Given the description of an element on the screen output the (x, y) to click on. 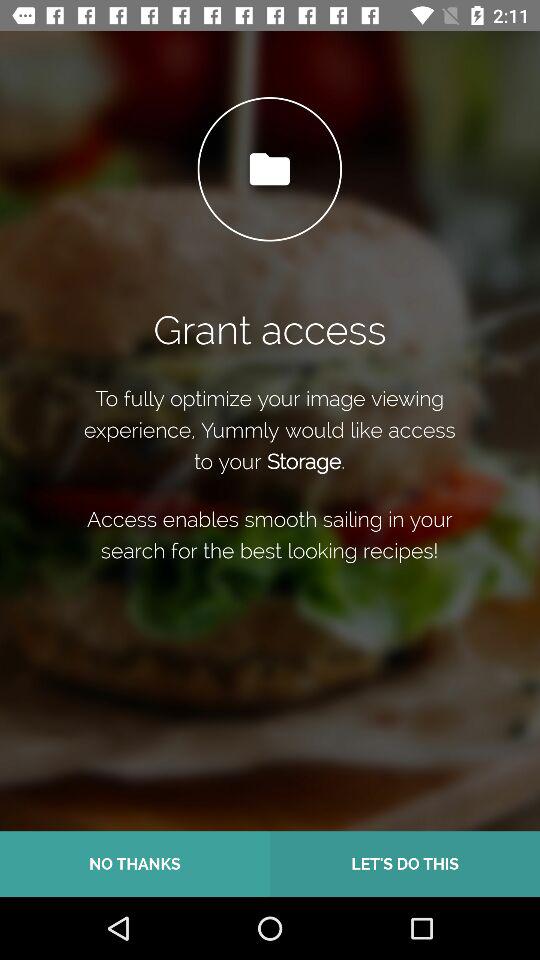
turn on item to the right of no thanks item (405, 863)
